Given the description of an element on the screen output the (x, y) to click on. 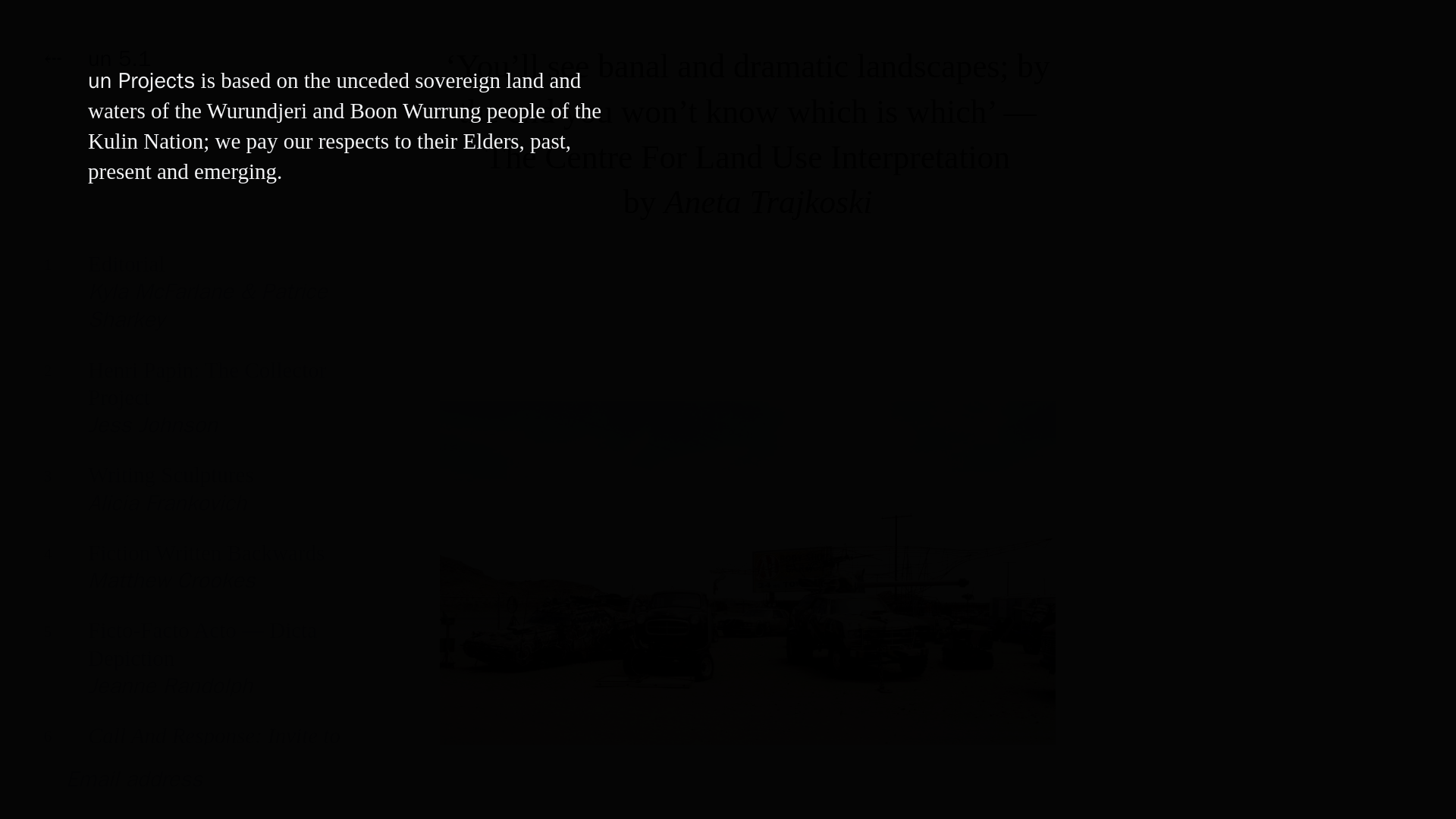
Posts by Aneta Trajkoski (197, 577)
Aneta Trajkoski (197, 499)
